Given the description of an element on the screen output the (x, y) to click on. 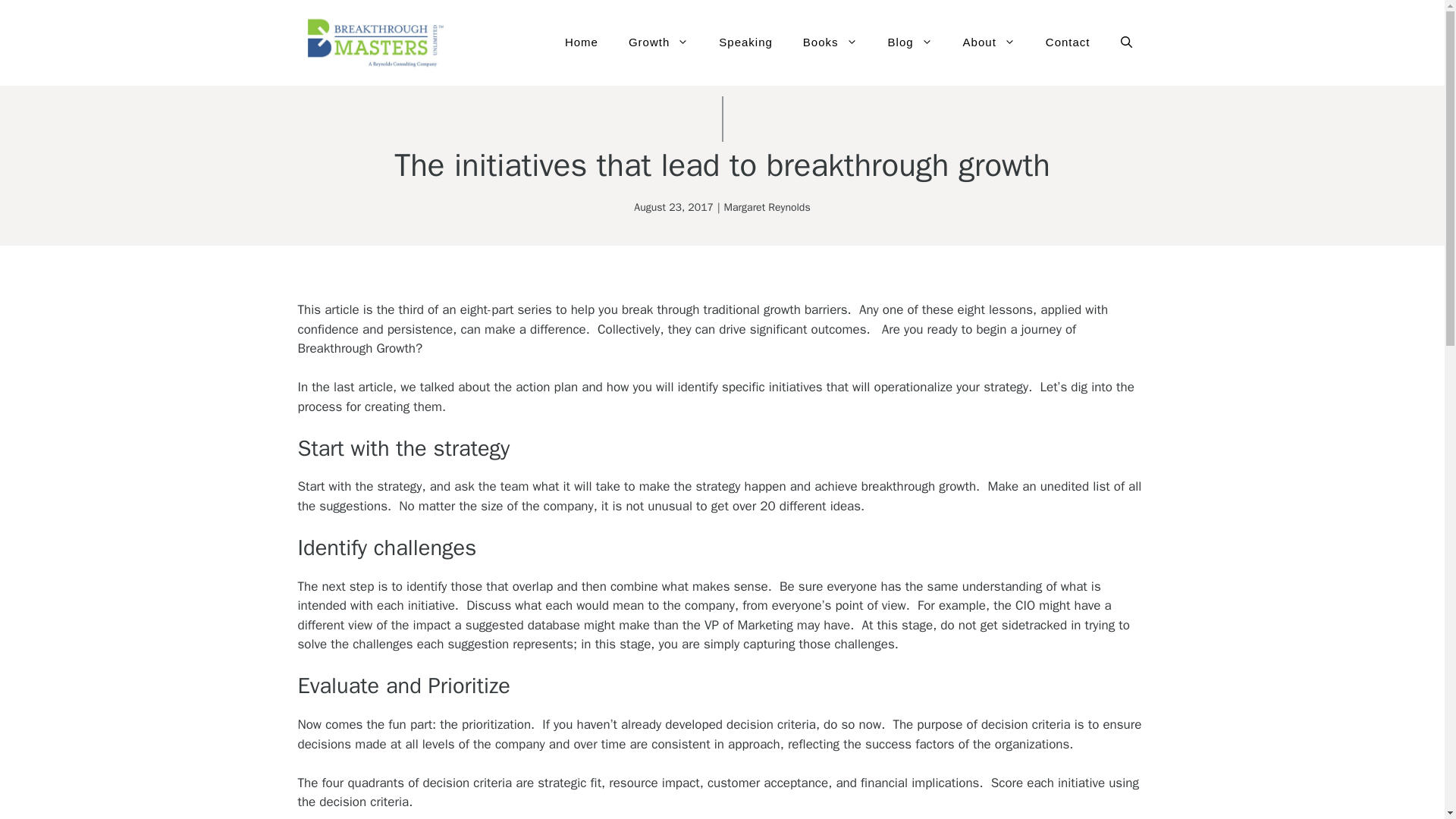
Growth (657, 42)
Breakthrough Masters (372, 41)
Contact (1067, 42)
Breakthrough Masters (372, 42)
Home (581, 42)
About (988, 42)
Speaking (745, 42)
Blog (909, 42)
Books (829, 42)
Margaret Reynolds (766, 206)
